Given the description of an element on the screen output the (x, y) to click on. 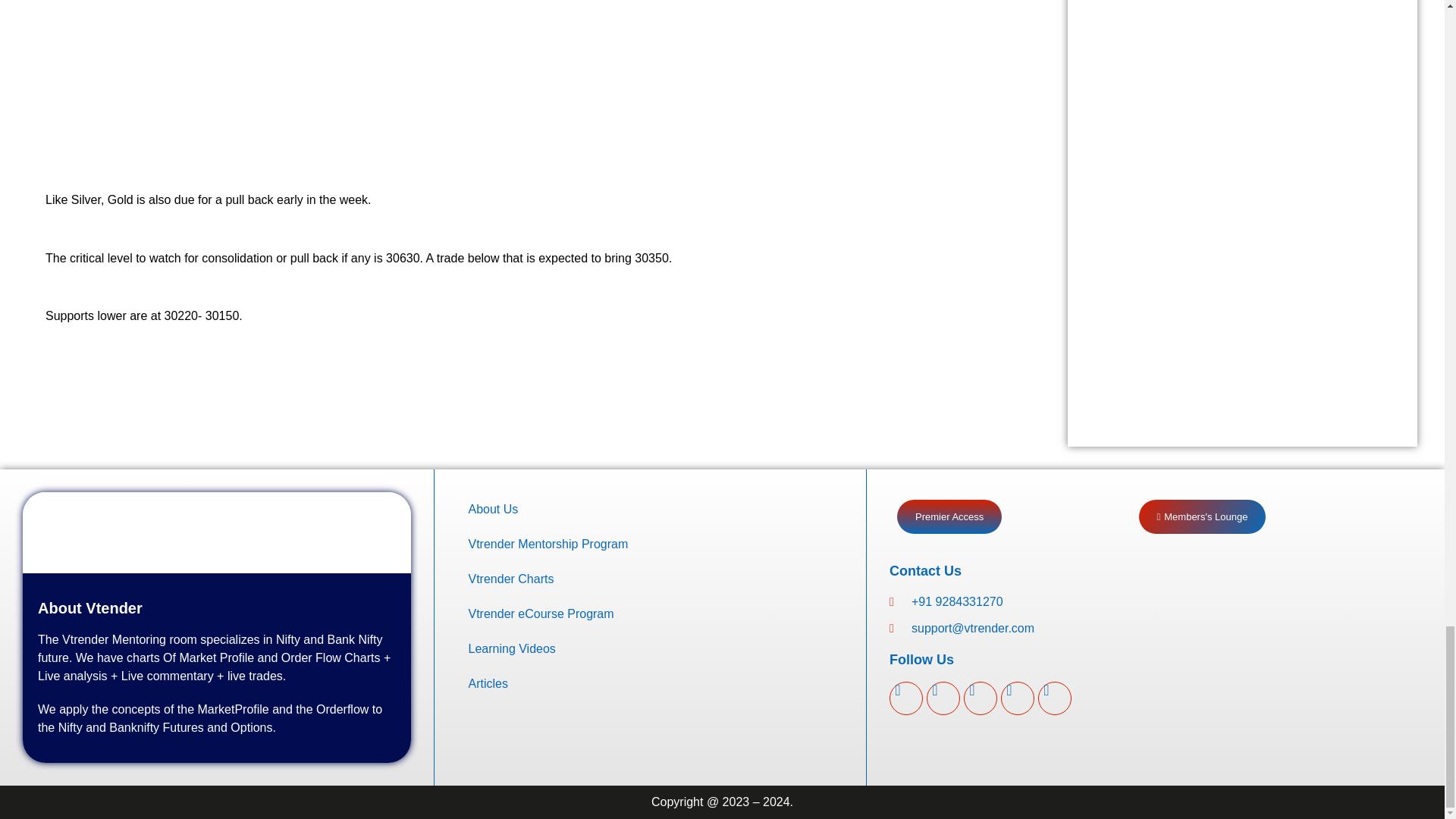
MCX Weekly check 5 (310, 72)
